Given the description of an element on the screen output the (x, y) to click on. 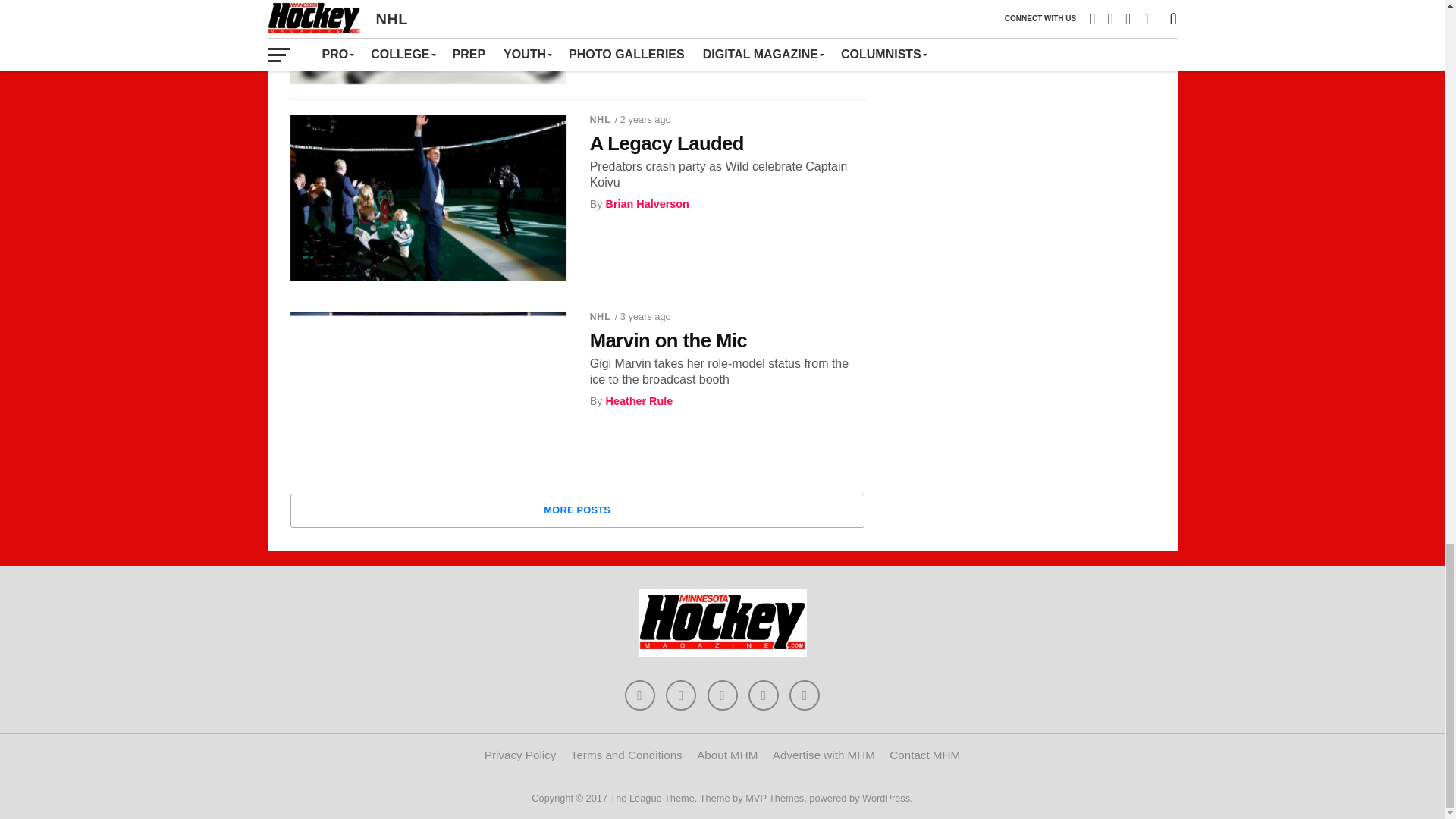
Posts by Heather Rule (638, 400)
Posts by Brian Halverson (646, 203)
Posts by Heather Rule (638, 6)
